Given the description of an element on the screen output the (x, y) to click on. 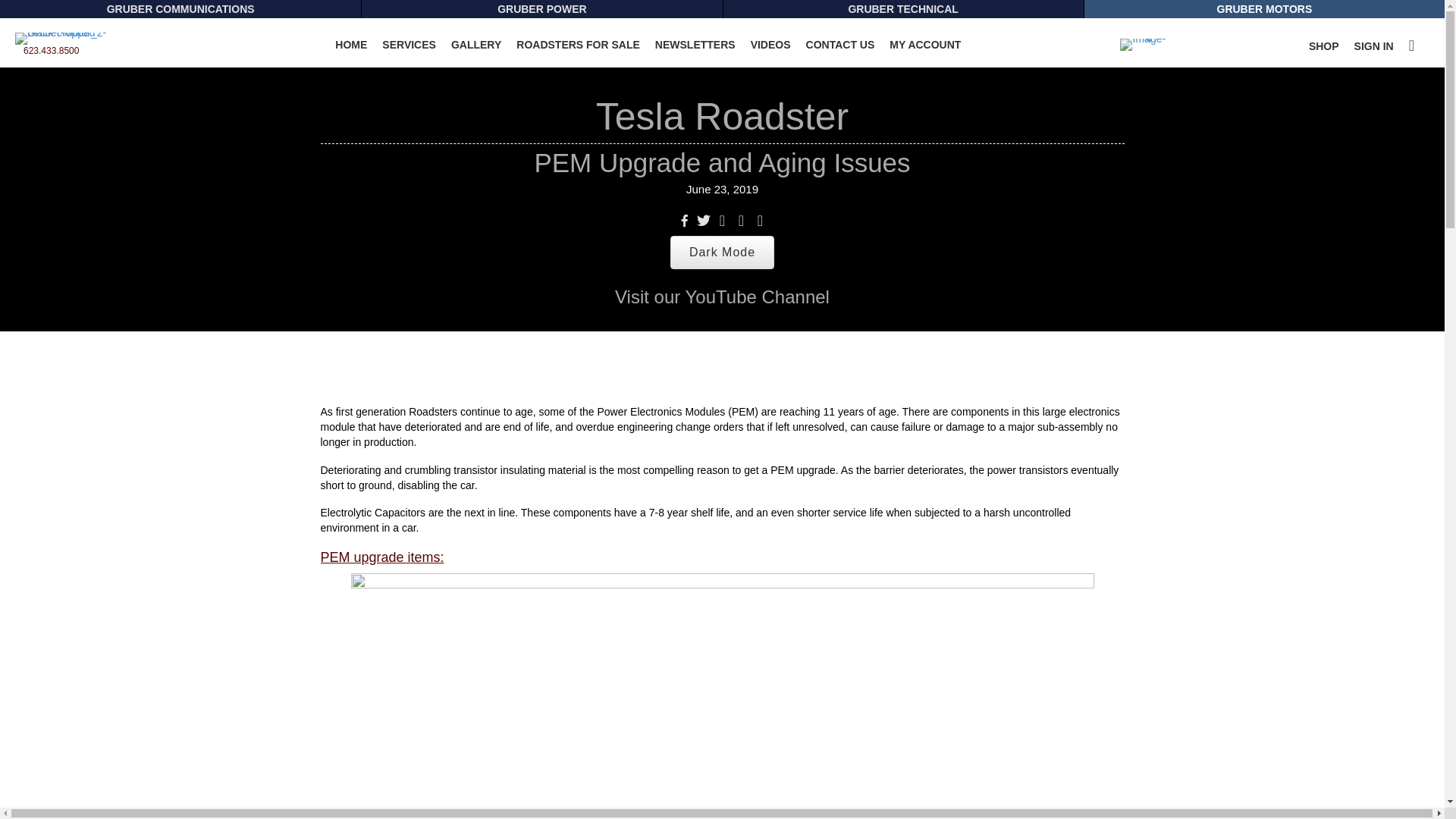
SIGN IN (1373, 45)
CONTACT US (839, 44)
GRUBER POWER (541, 9)
Dark Mode (721, 252)
GRUBER MOTORS (1264, 9)
ROADSTERS FOR SALE (577, 44)
VIDEOS (769, 44)
623.433.8500 (50, 50)
GRUBER TECHNICAL (903, 9)
SERVICES (409, 44)
